Given the description of an element on the screen output the (x, y) to click on. 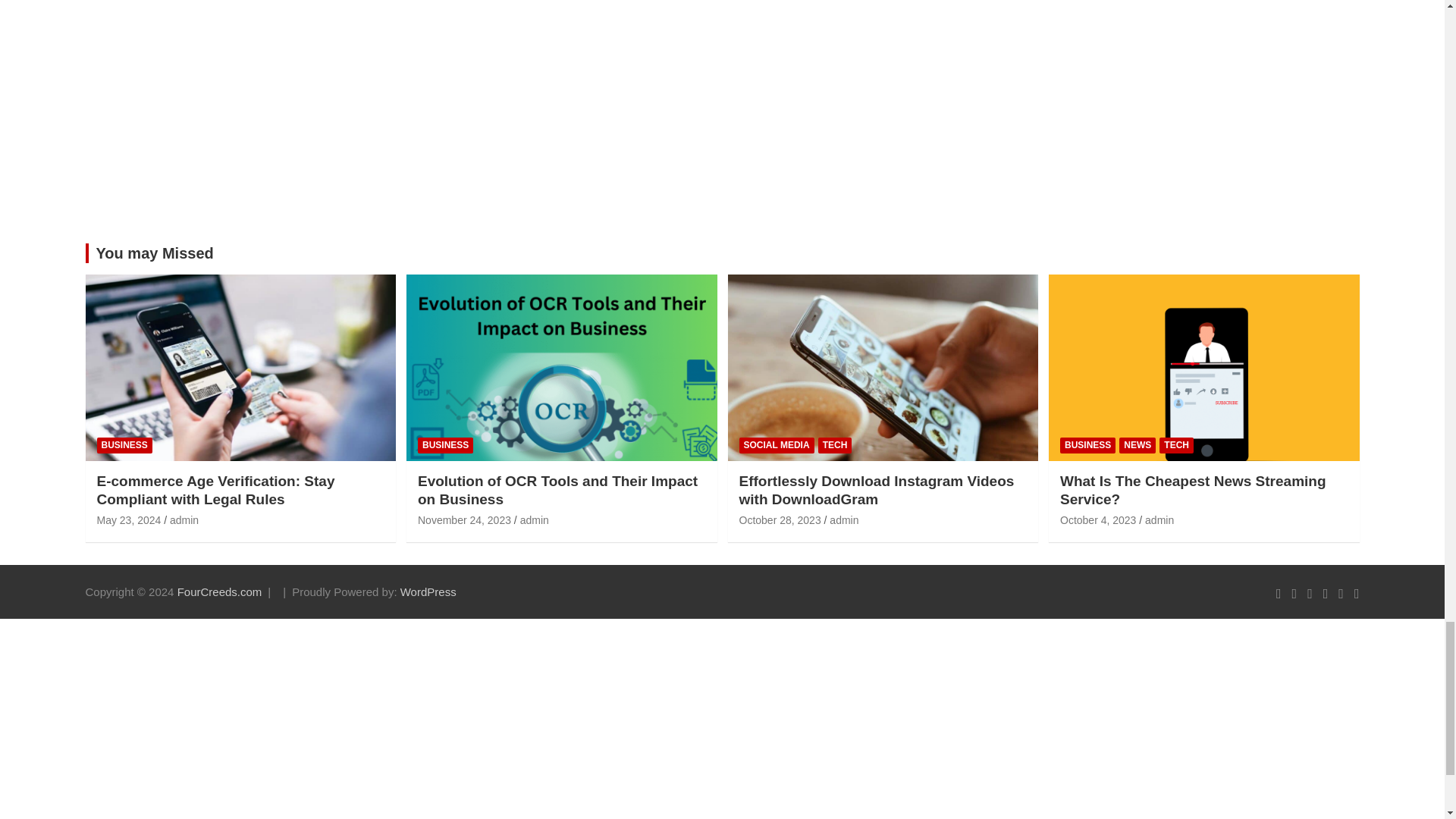
What Is The Cheapest News Streaming Service? (1097, 520)
E-commerce Age Verification: Stay Compliant with Legal Rules (129, 520)
Evolution of OCR Tools and Their Impact on Business (464, 520)
FourCreeds.com (219, 591)
Effortlessly Download Instagram Videos with DownloadGram (779, 520)
